Given the description of an element on the screen output the (x, y) to click on. 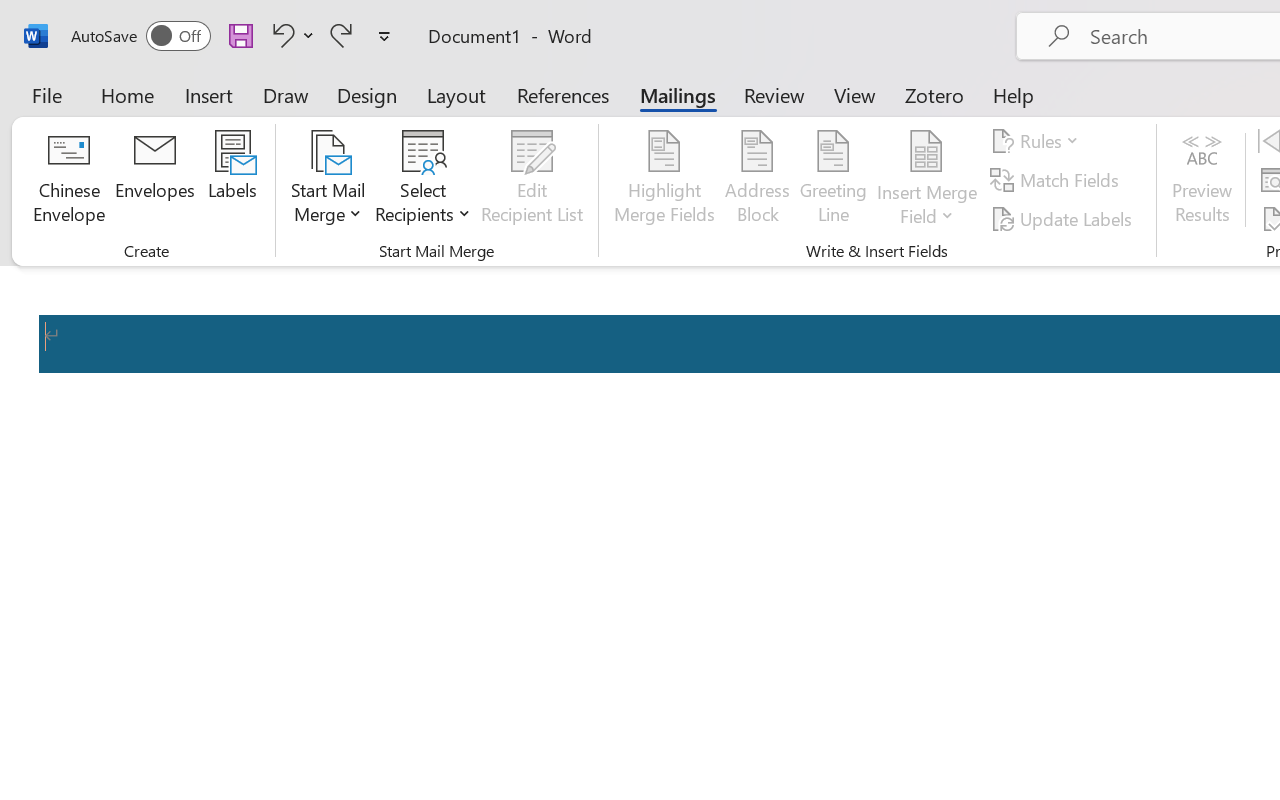
Address Block... (757, 179)
Labels... (232, 179)
Match Fields... (1057, 179)
Insert Merge Field (927, 151)
Insert Merge Field (927, 179)
Envelopes... (155, 179)
